Given the description of an element on the screen output the (x, y) to click on. 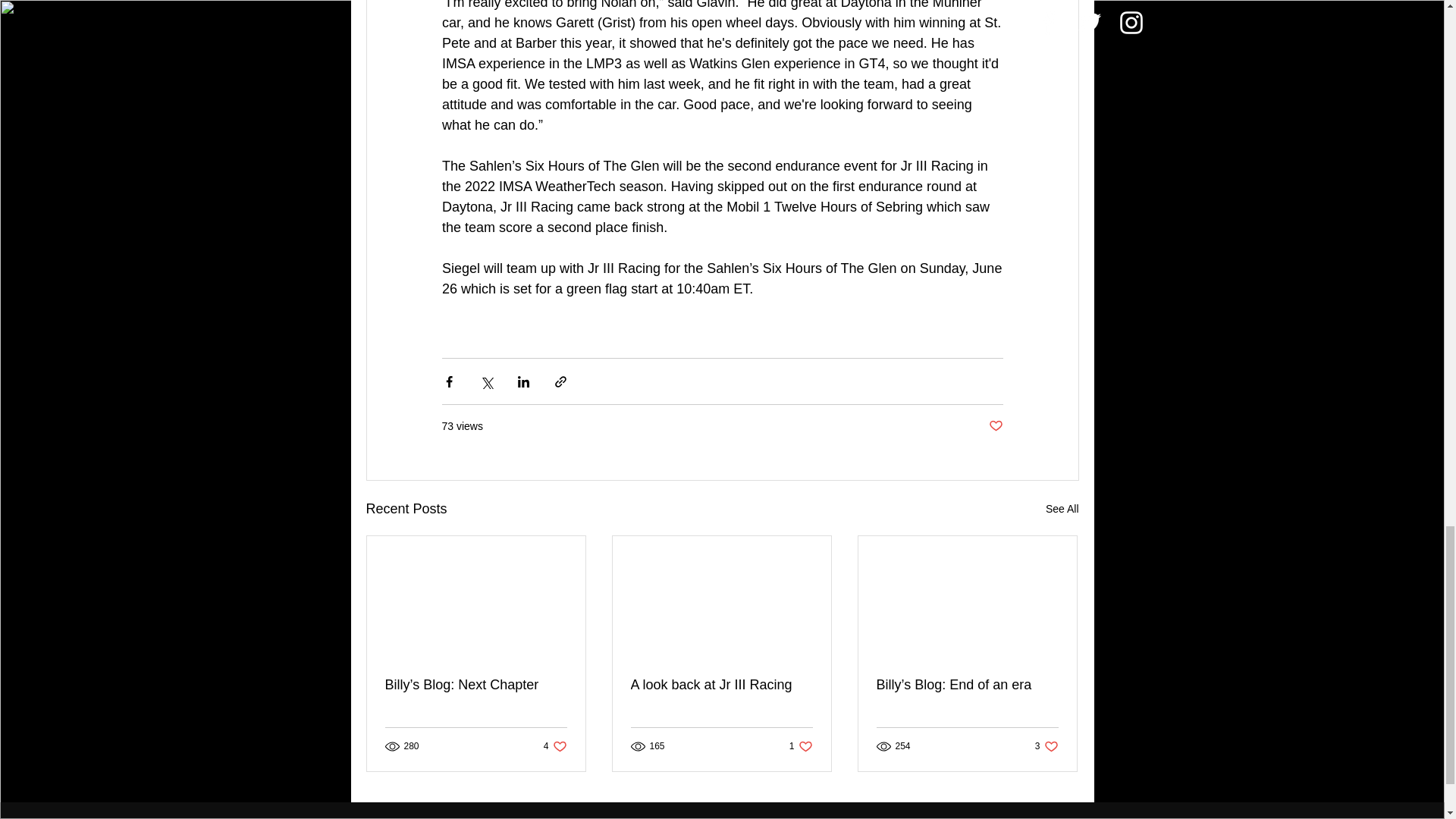
Post not marked as liked (995, 426)
See All (1061, 508)
A look back at Jr III Racing (721, 684)
